Given the description of an element on the screen output the (x, y) to click on. 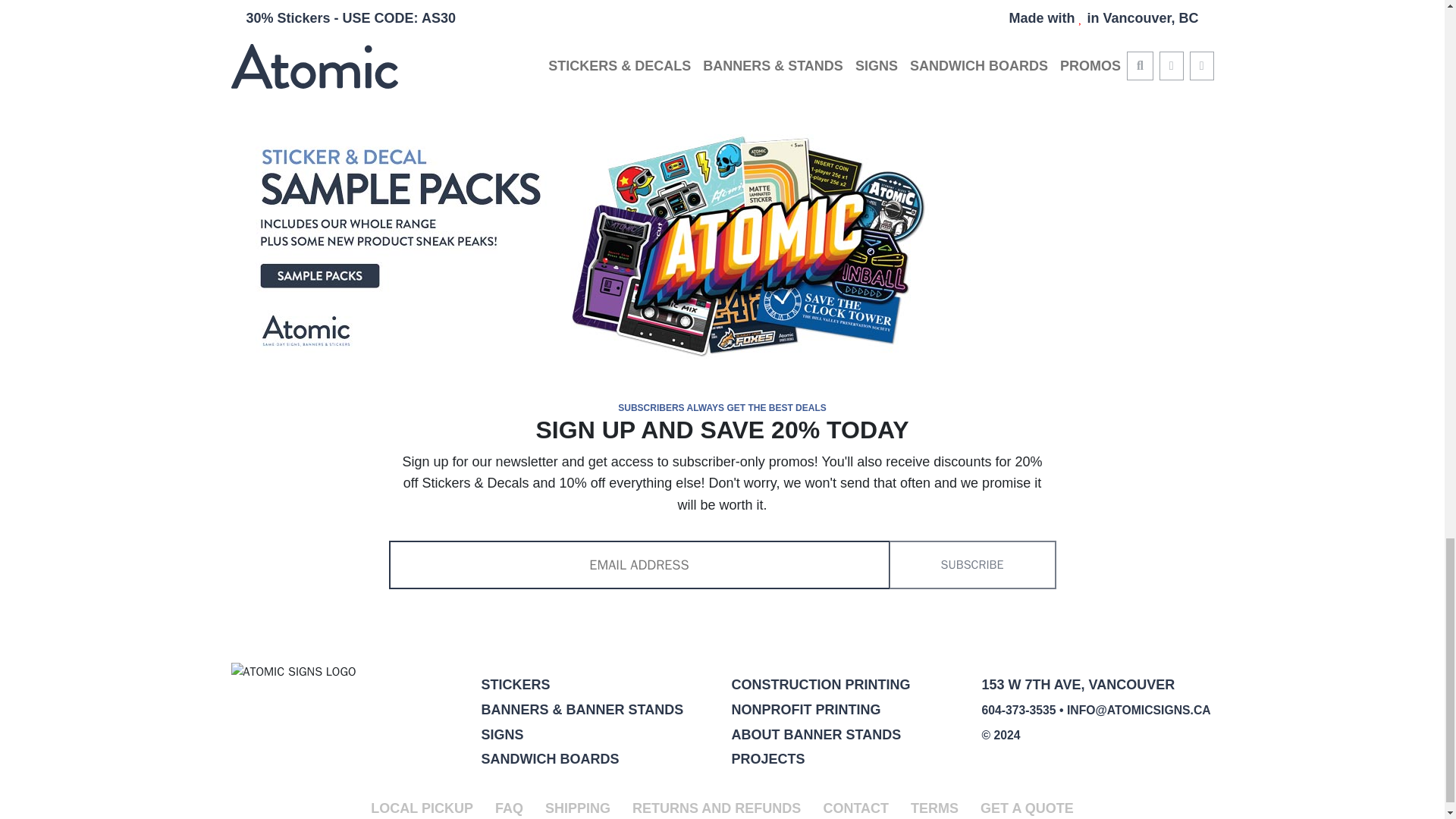
Subscribe (971, 564)
SIGNS (501, 734)
CONSTRUCTION PRINTING (820, 684)
ABOUT BANNER STANDS (815, 734)
SANDWICH BOARDS (549, 758)
PROJECTS (767, 758)
STICKERS (515, 684)
Subscribe (971, 564)
NONPROFIT PRINTING (805, 709)
604-373-3535 (1018, 709)
